Given the description of an element on the screen output the (x, y) to click on. 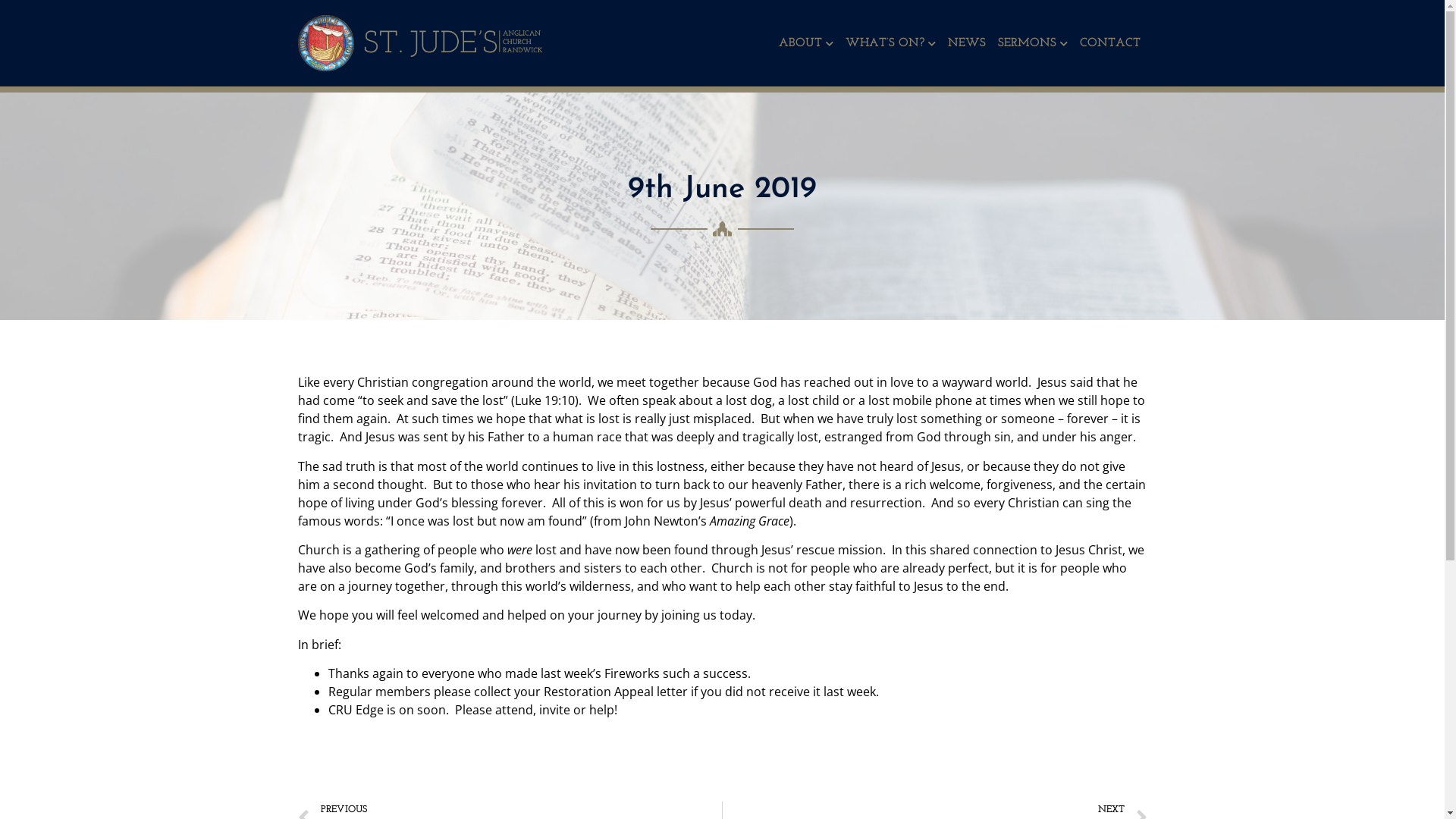
NEWS Element type: text (966, 42)
SERMONS Element type: text (1032, 42)
CONTACT Element type: text (1109, 42)
ABOUT Element type: text (805, 42)
